Given the description of an element on the screen output the (x, y) to click on. 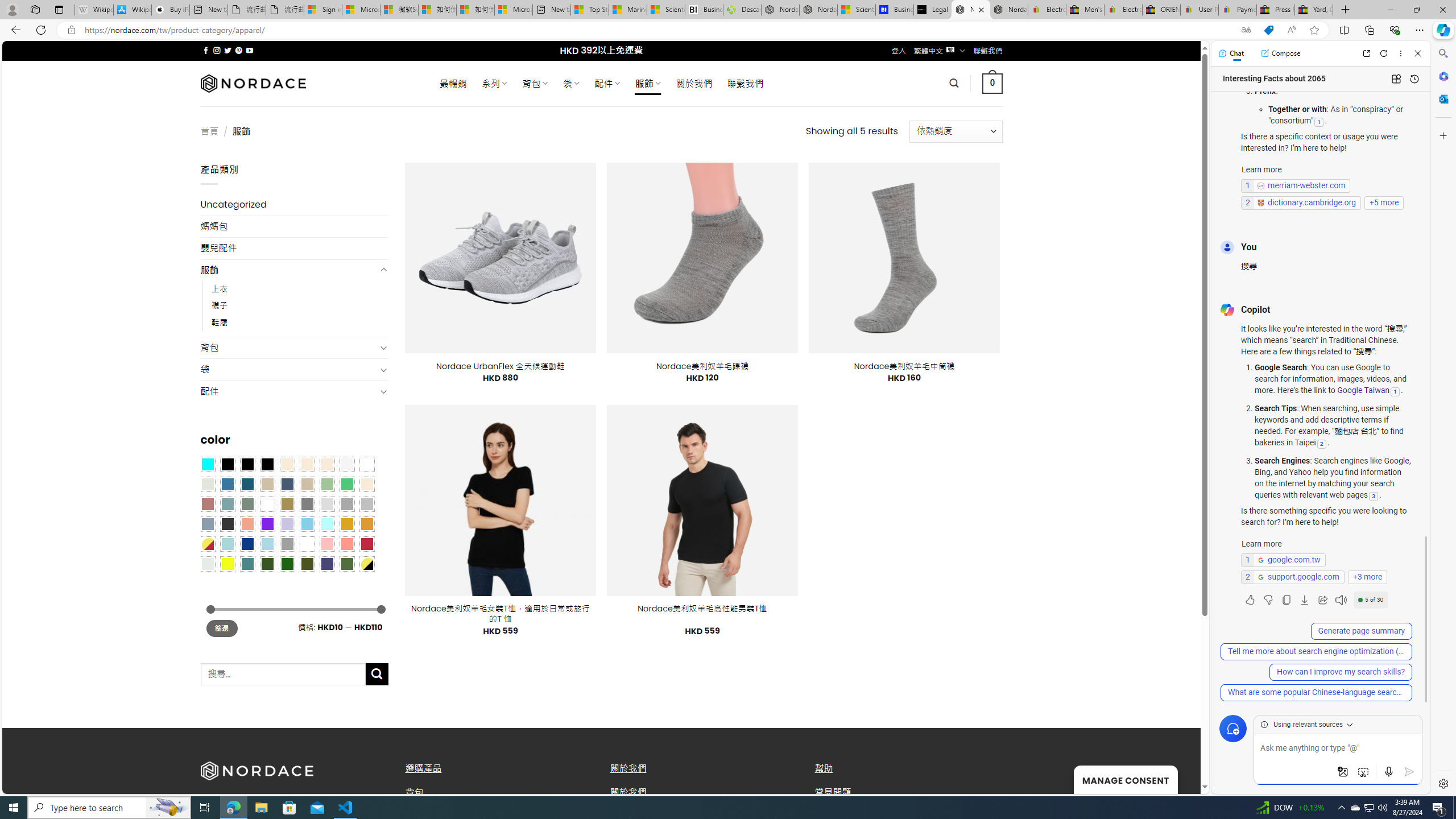
Follow on YouTube (249, 50)
Minimize Search pane (1442, 53)
 0  (992, 83)
